Given the description of an element on the screen output the (x, y) to click on. 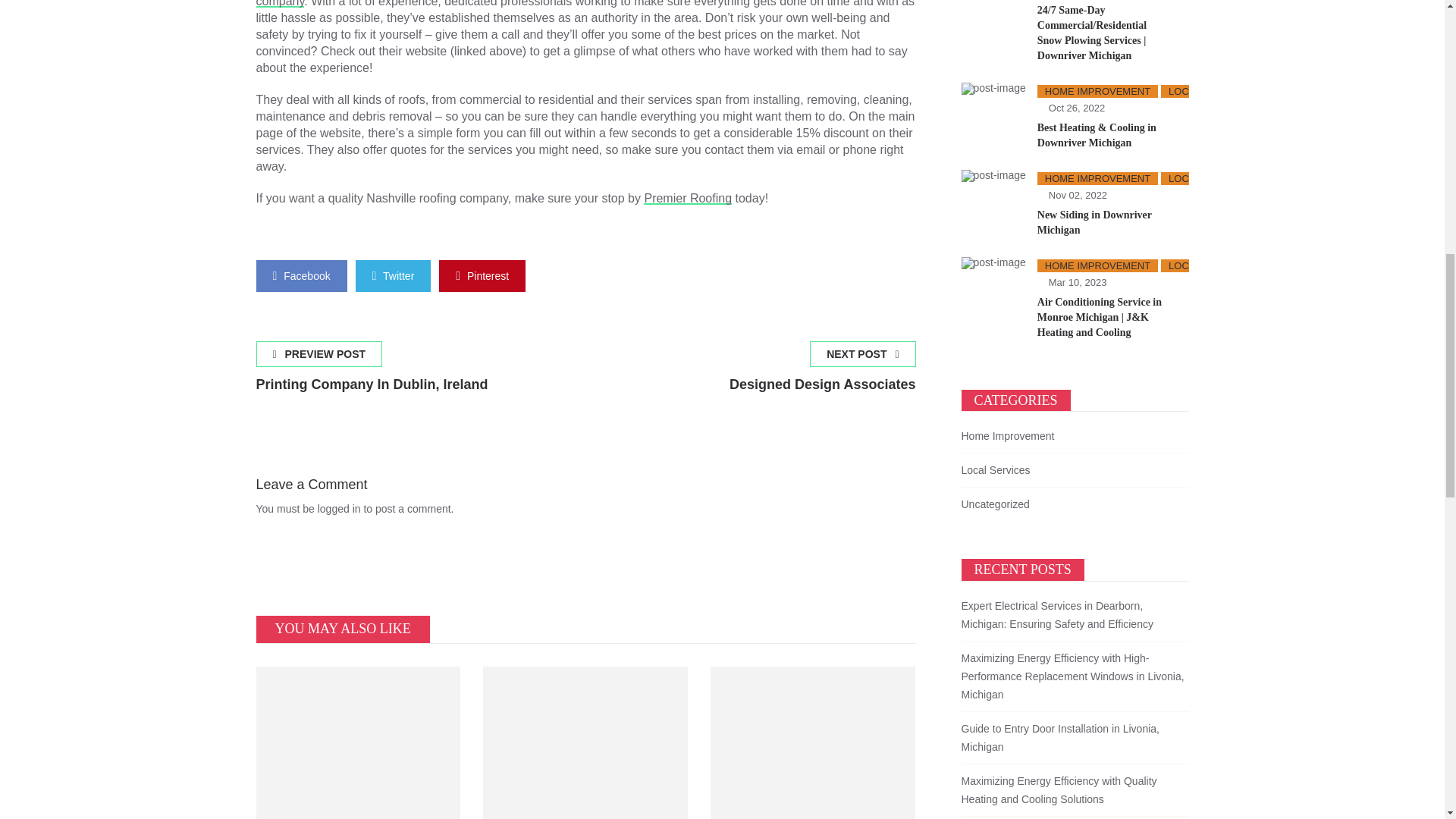
Nashville roofing company (822, 373)
Facebook (577, 3)
next post (301, 275)
twitter (822, 373)
logged in (393, 275)
Premier Roofing (339, 508)
Pinterest (687, 197)
prev post (481, 275)
facebook (371, 373)
